Given the description of an element on the screen output the (x, y) to click on. 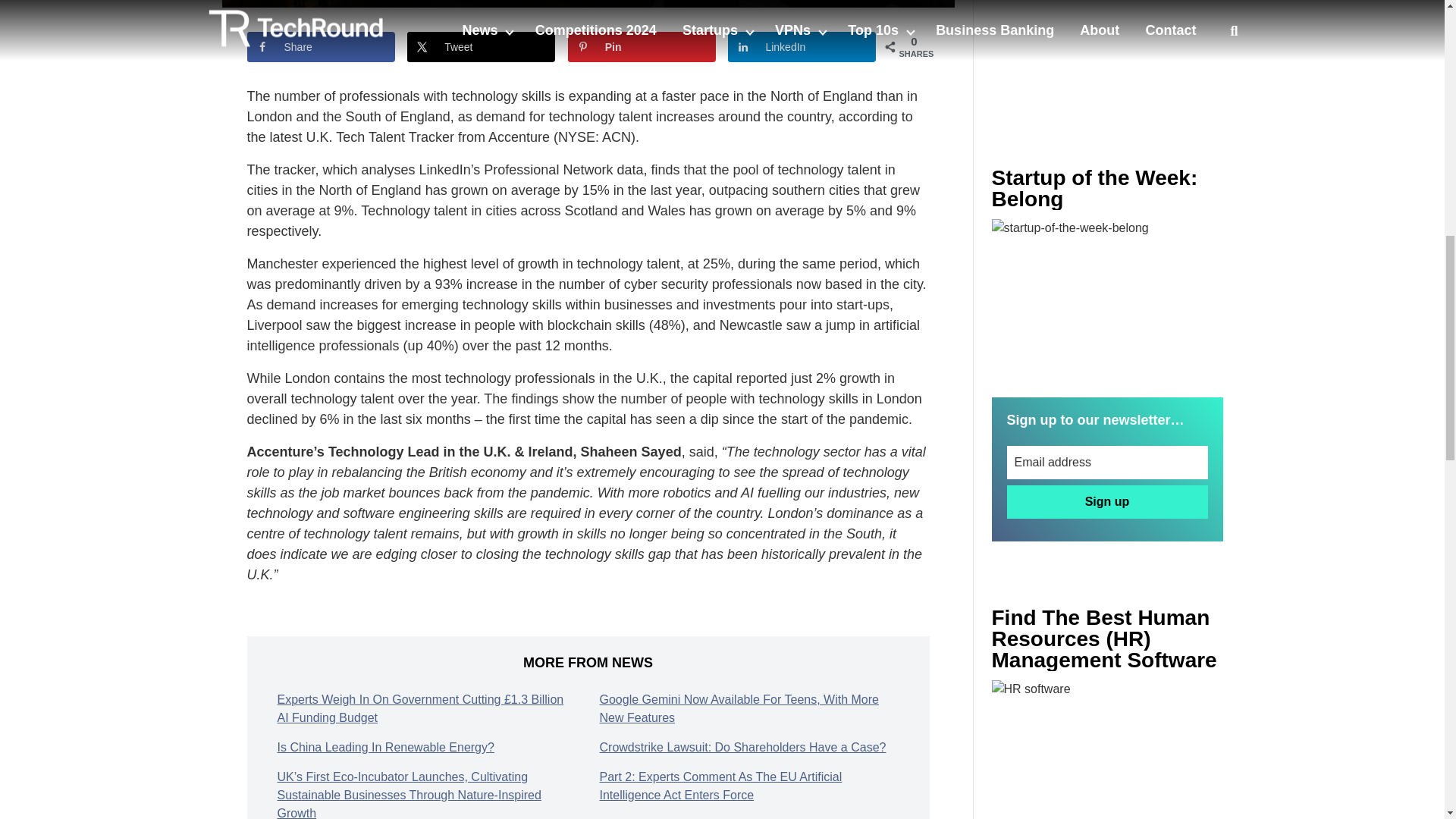
Sign up (1107, 501)
Share on LinkedIn (802, 46)
Share on Facebook (320, 46)
Startup of the Week: Neon Link (1107, 296)
Share on X (480, 46)
Save to Pinterest (641, 46)
Enter The BAME Top 50 Entrepreneurs - Deadline 10th Nov 2021 (1107, 749)
